Given the description of an element on the screen output the (x, y) to click on. 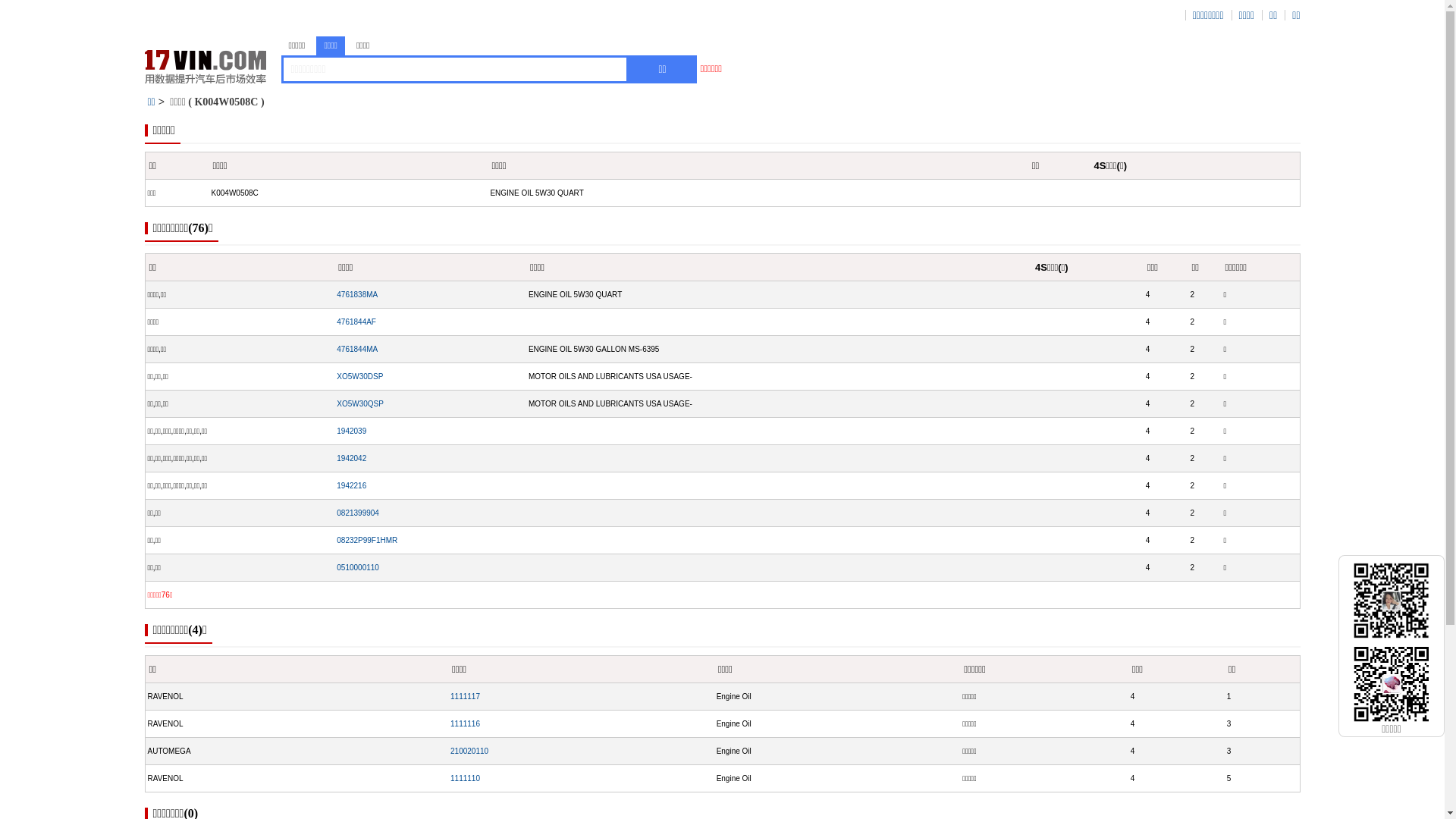
1942039 Element type: text (351, 430)
210020110 Element type: text (469, 750)
08232P99F1HMR Element type: text (366, 540)
1111117 Element type: text (465, 696)
1111116 Element type: text (465, 723)
1111110 Element type: text (465, 778)
4761844MA Element type: text (356, 349)
1942216 Element type: text (351, 485)
0510000110 Element type: text (357, 567)
XO5W30QSP Element type: text (359, 403)
4761838MA Element type: text (356, 294)
1942042 Element type: text (351, 458)
0821399904 Element type: text (357, 512)
XO5W30DSP Element type: text (359, 376)
4761844AF Element type: text (356, 321)
